Given the description of an element on the screen output the (x, y) to click on. 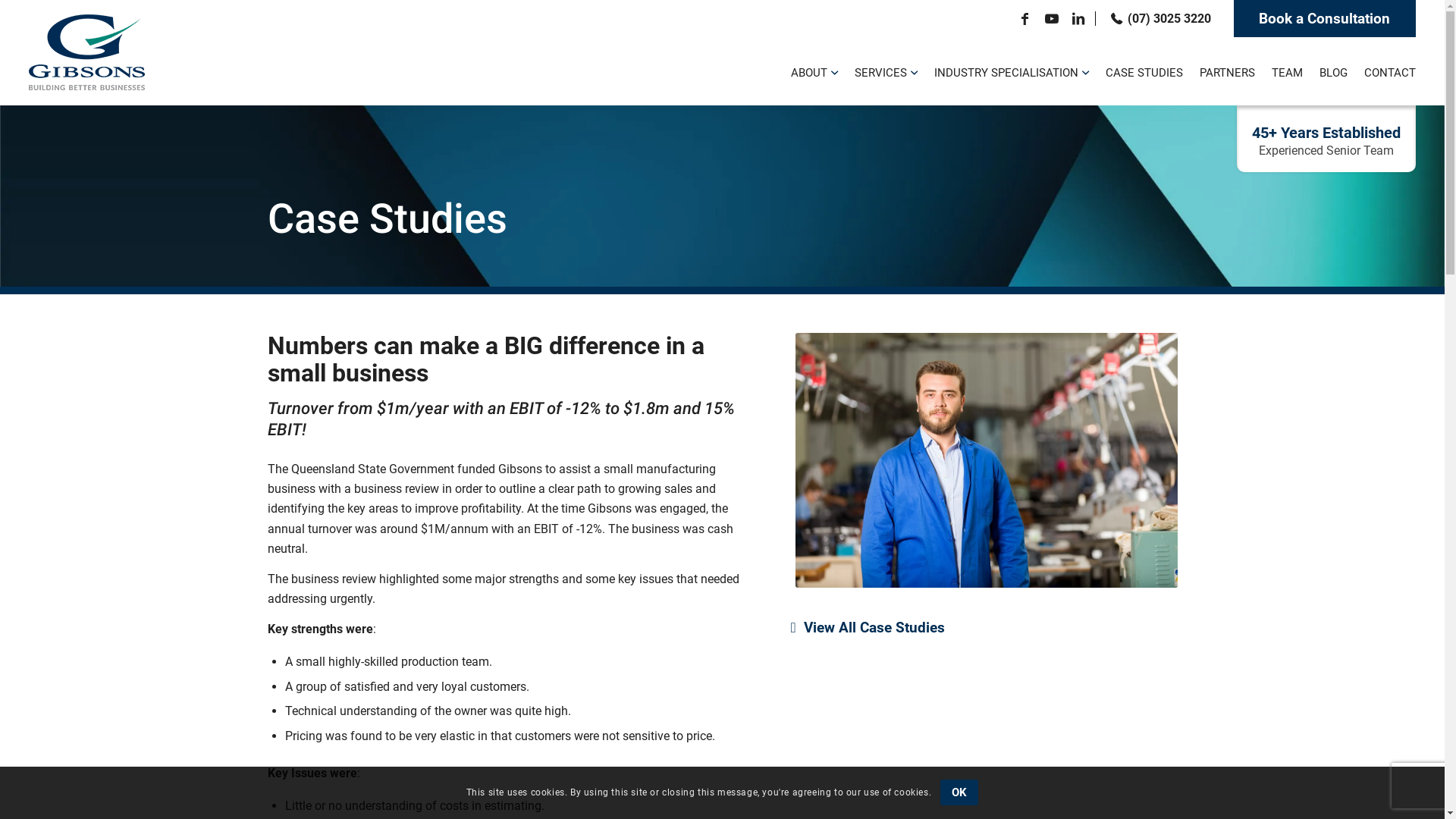
BLOG Element type: text (1333, 71)
OK Element type: text (959, 792)
TEAM Element type: text (1287, 71)
Youtube Element type: hover (1051, 18)
INDUSTRY SPECIALISATION Element type: text (1011, 71)
(07) 3025 3220 Element type: text (1153, 18)
CONTACT Element type: text (1385, 71)
CASE STUDIES Element type: text (1144, 71)
Facebook Element type: hover (1024, 18)
SERVICES Element type: text (885, 71)
ABOUT Element type: text (814, 71)
gibsons-logo-small Element type: hover (86, 52)
Book a Consultation Element type: text (1324, 18)
View All Case Studies Element type: text (869, 628)
PARTNERS Element type: text (1227, 71)
LinkedIn Element type: hover (1077, 18)
